Given the description of an element on the screen output the (x, y) to click on. 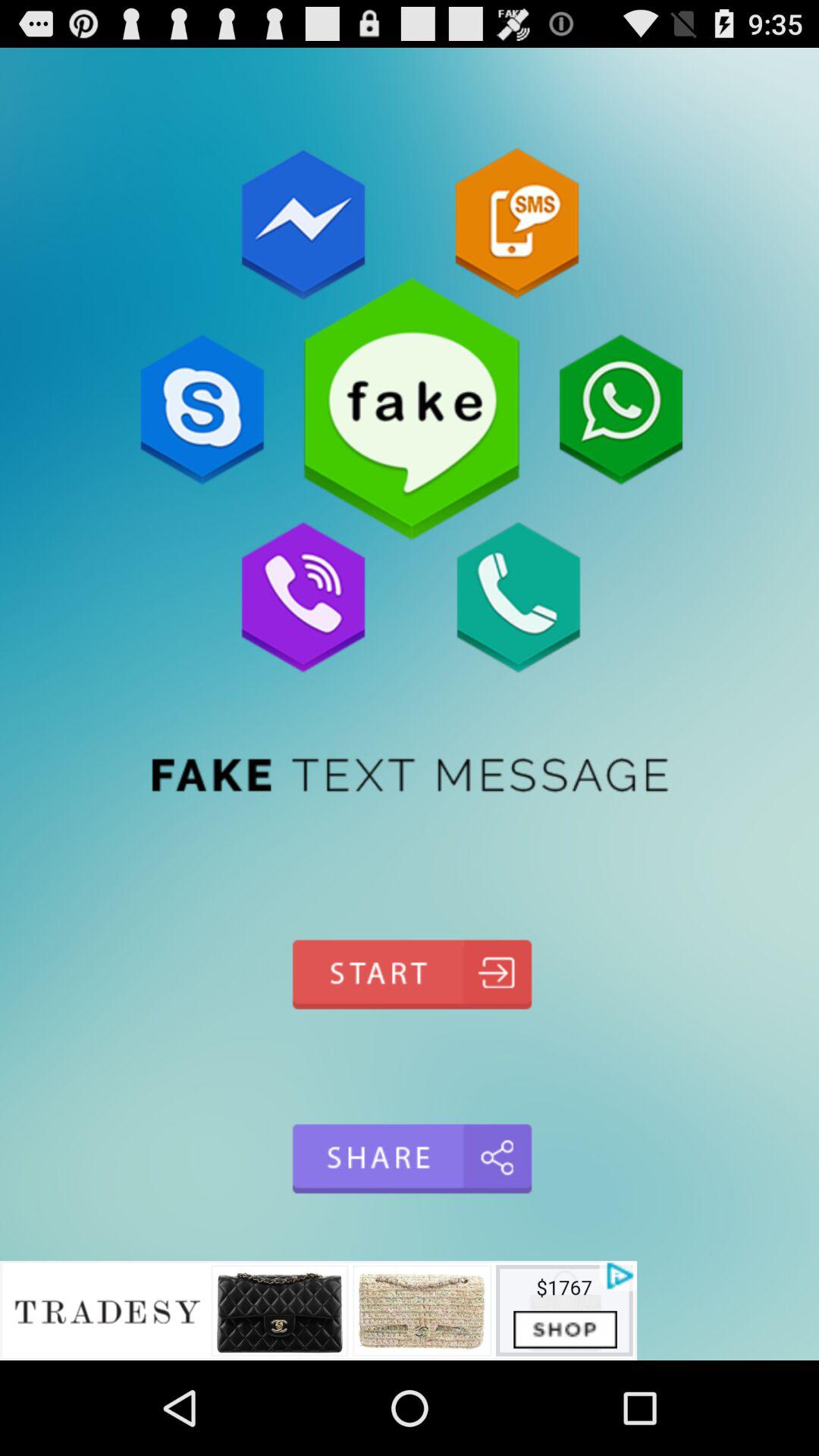
start box (409, 974)
